Given the description of an element on the screen output the (x, y) to click on. 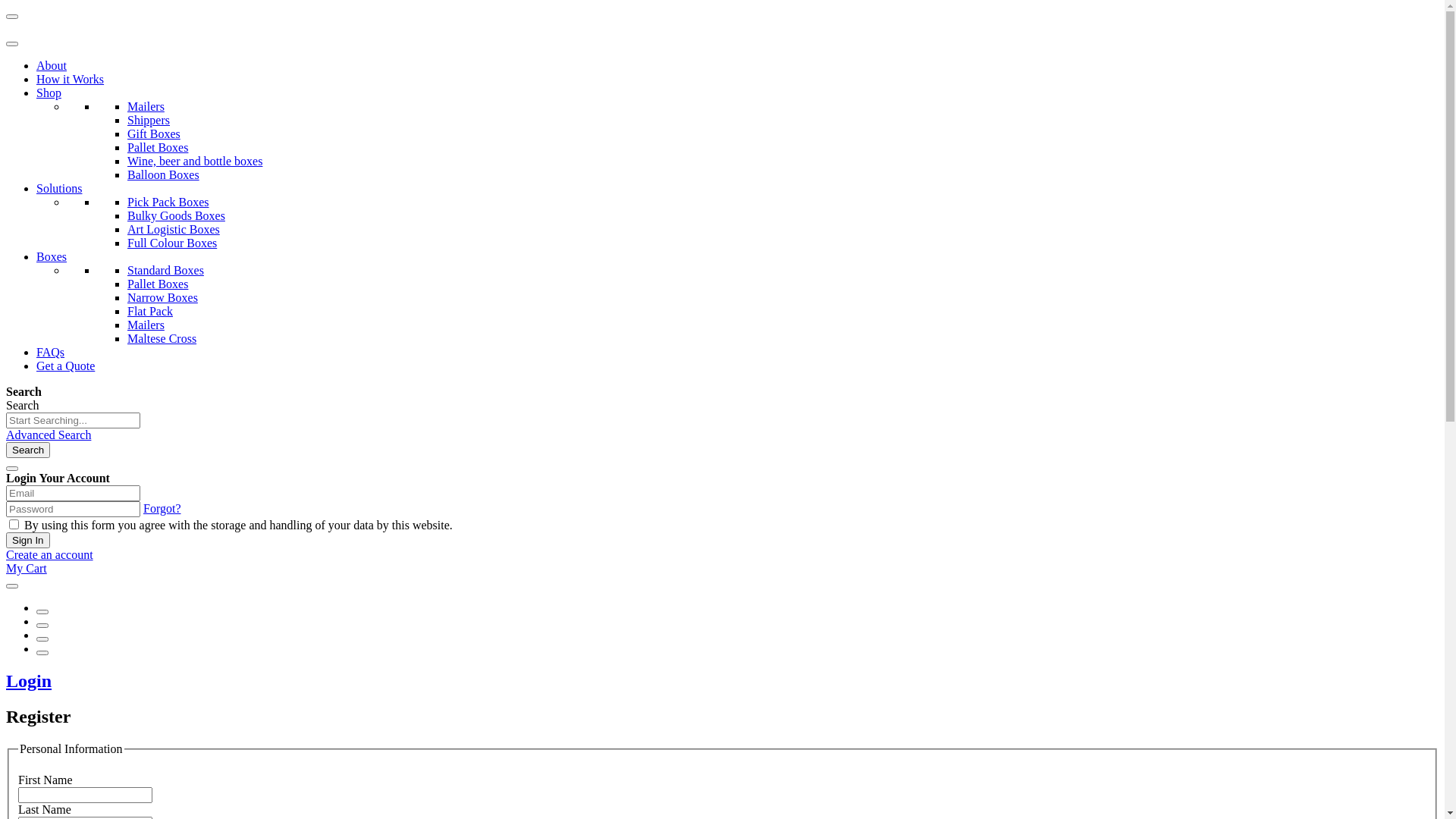
Bulky Goods Boxes Element type: text (176, 215)
Flat Pack Element type: text (149, 310)
Get a Quote Element type: text (65, 365)
First Name Element type: hover (85, 795)
Standard Boxes Element type: text (165, 269)
Shop Element type: text (48, 92)
Forgot? Element type: text (161, 508)
Advanced Search Element type: text (48, 434)
Gift Boxes Element type: text (153, 133)
Full Colour Boxes Element type: text (171, 242)
Mailers Element type: text (145, 106)
Pick Pack Boxes Element type: text (168, 201)
Narrow Boxes Element type: text (162, 297)
Shippers Element type: text (148, 119)
Password Element type: hover (73, 509)
Mailers Element type: text (145, 324)
How it Works Element type: text (69, 78)
Create an account Element type: text (49, 554)
Sign In Element type: text (28, 540)
Email Element type: hover (73, 493)
Solutions Element type: text (58, 188)
FAQs Element type: text (50, 351)
Pallet Boxes Element type: text (157, 147)
Wine, beer and bottle boxes Element type: text (194, 160)
Login Element type: text (28, 680)
About Element type: text (51, 65)
Pallet Boxes Element type: text (157, 283)
Art Logistic Boxes Element type: text (173, 228)
Search Element type: text (28, 450)
Maltese Cross Element type: text (161, 338)
My Cart Element type: text (26, 567)
Boxes Element type: text (51, 256)
Balloon Boxes Element type: text (163, 174)
